Given the description of an element on the screen output the (x, y) to click on. 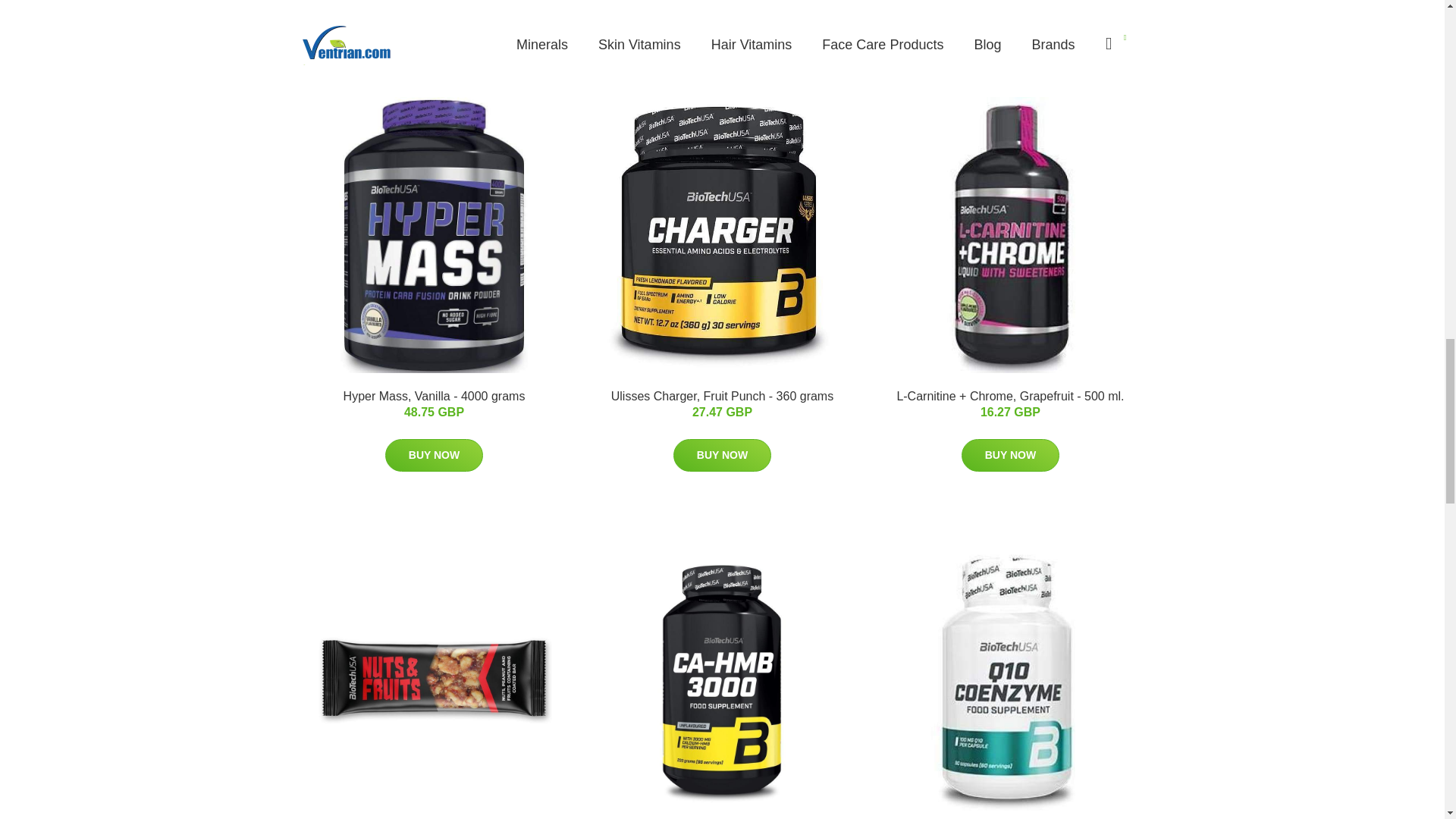
BUY NOW (721, 454)
Hyper Mass, Vanilla - 4000 grams (434, 395)
Ulisses Charger, Fruit Punch - 360 grams (721, 395)
BUY NOW (1009, 454)
BUY NOW (434, 454)
